Given the description of an element on the screen output the (x, y) to click on. 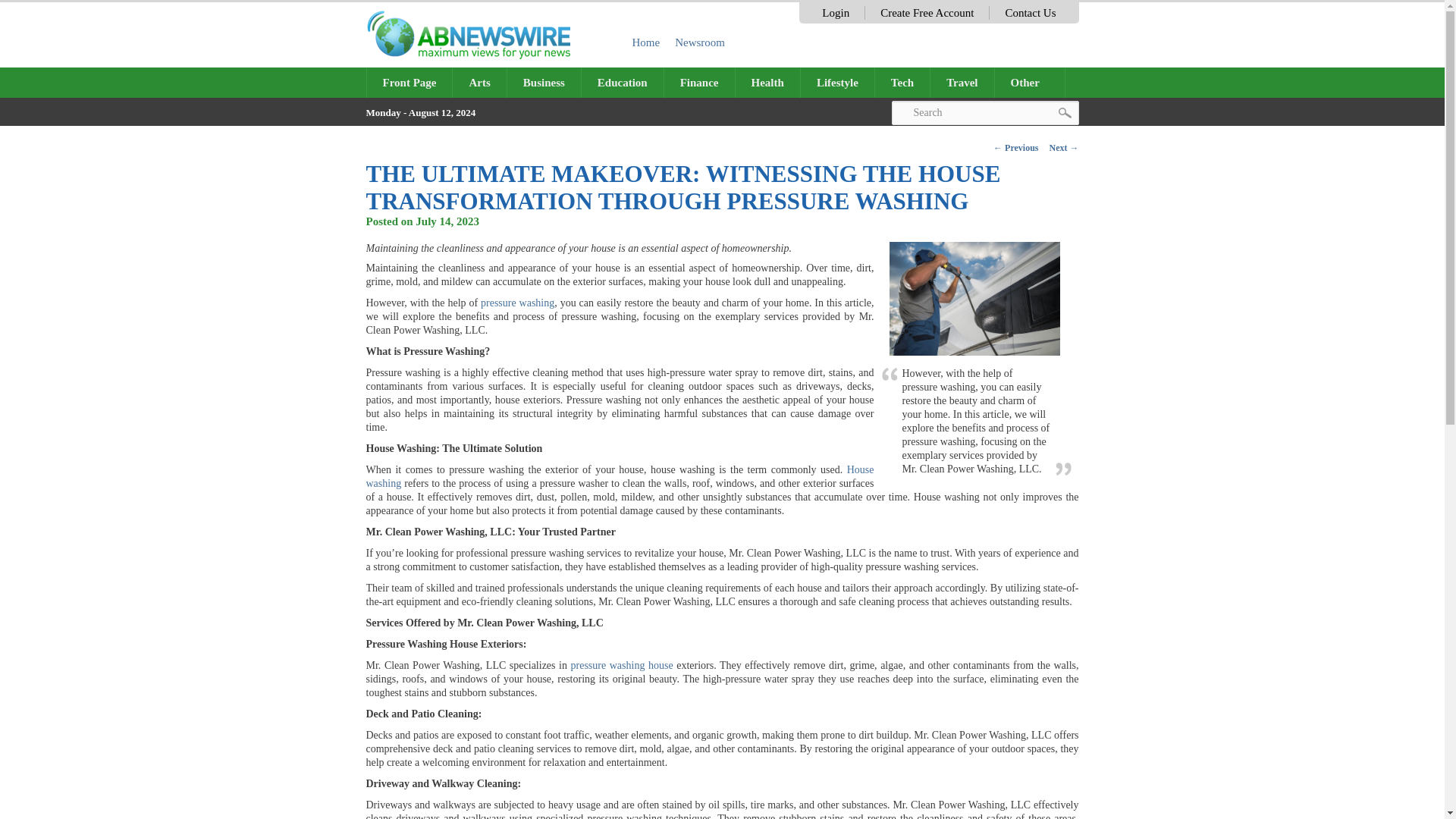
Contact Us (1030, 12)
Education (622, 82)
Travel (961, 82)
Home (646, 42)
Business (544, 82)
Tech (901, 82)
Arts (478, 82)
Newsroom (700, 42)
Search (984, 112)
